Given the description of an element on the screen output the (x, y) to click on. 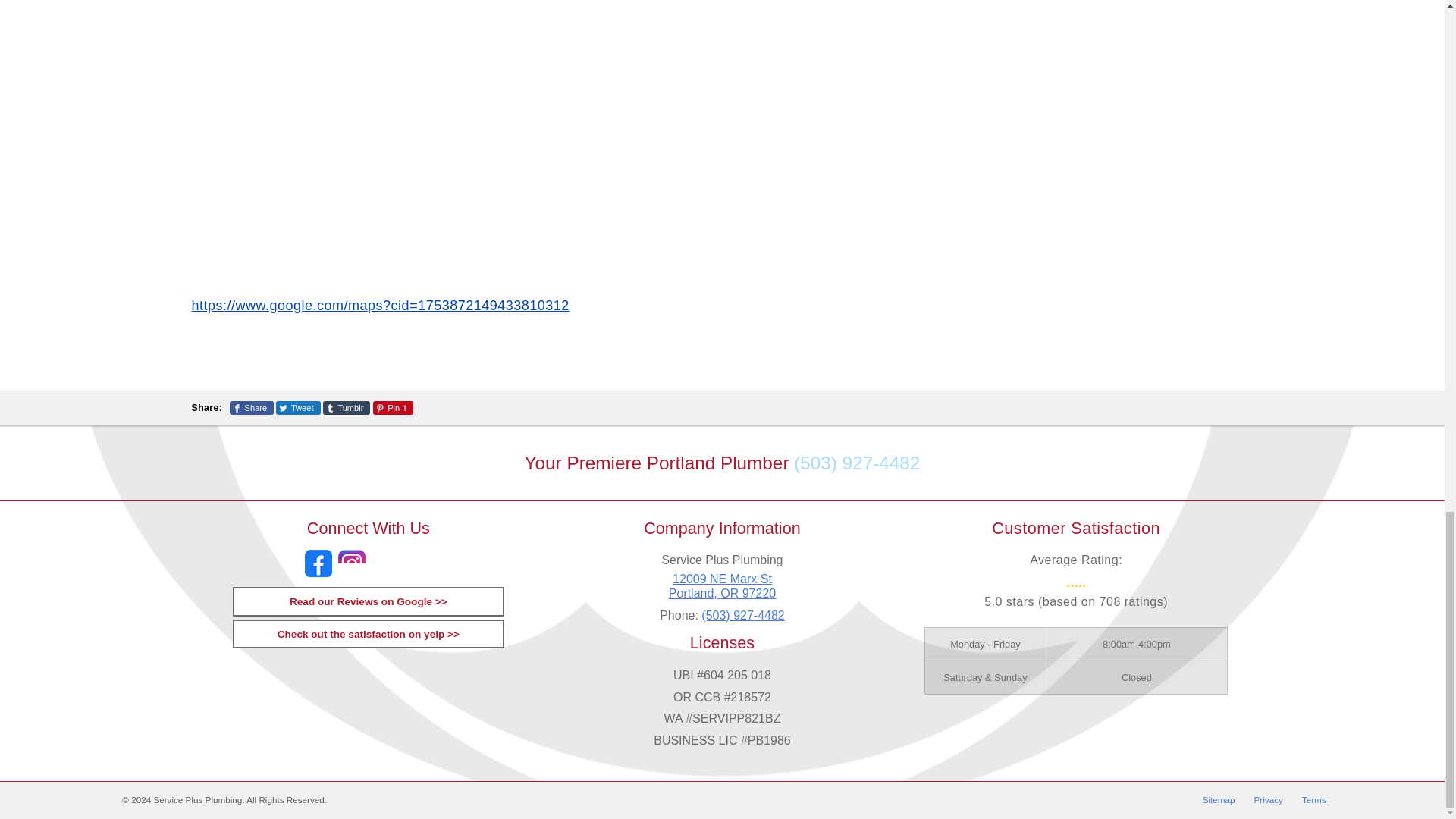
Facebook (317, 563)
Pinterest (384, 563)
Privacy (1267, 800)
Google Reviews (367, 601)
Yelp Reviews (722, 585)
Terms (367, 633)
Pin it (1313, 800)
YouTube (392, 407)
Tumblr (418, 563)
